Given the description of an element on the screen output the (x, y) to click on. 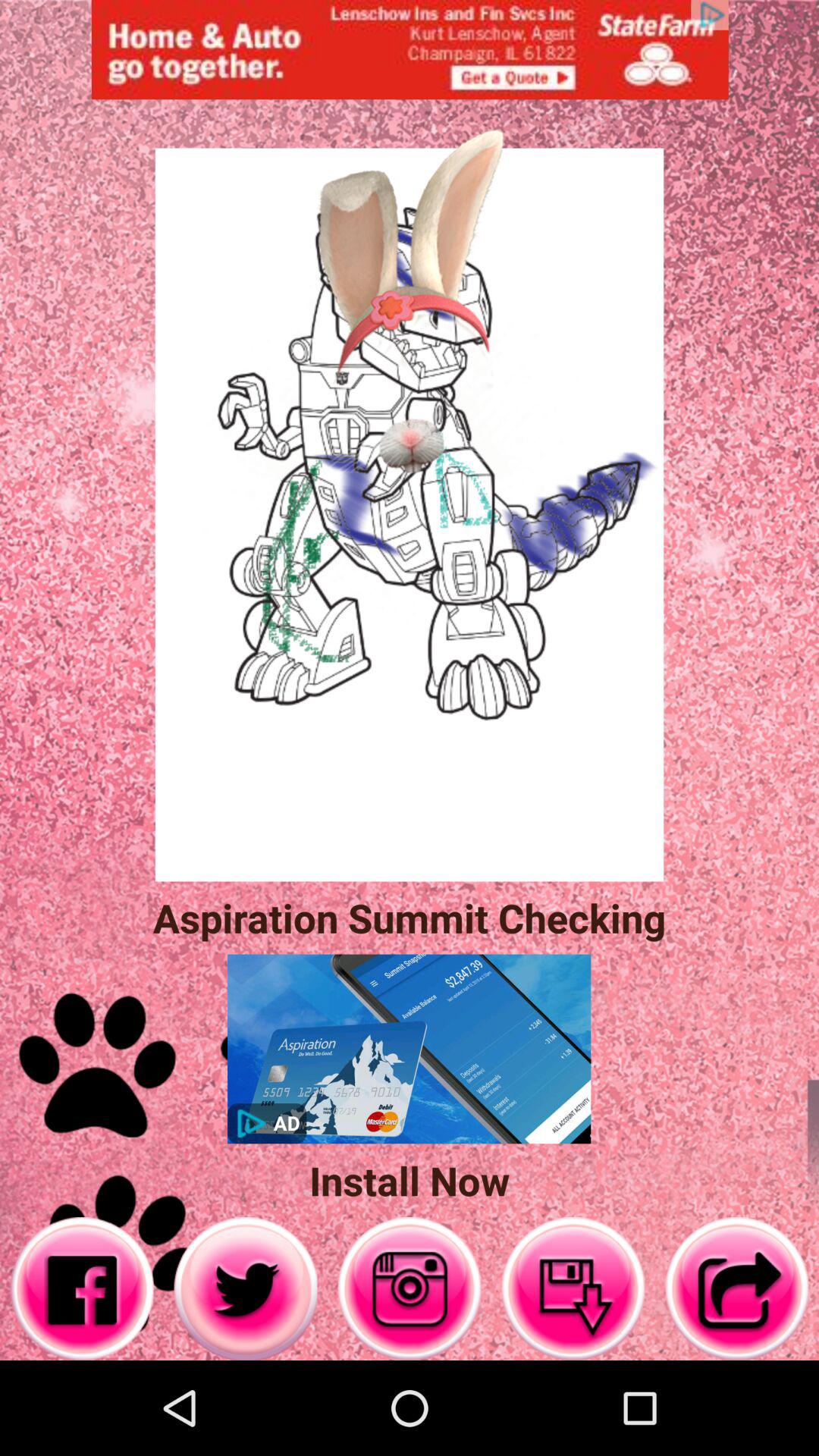
twiter button (245, 1288)
